Given the description of an element on the screen output the (x, y) to click on. 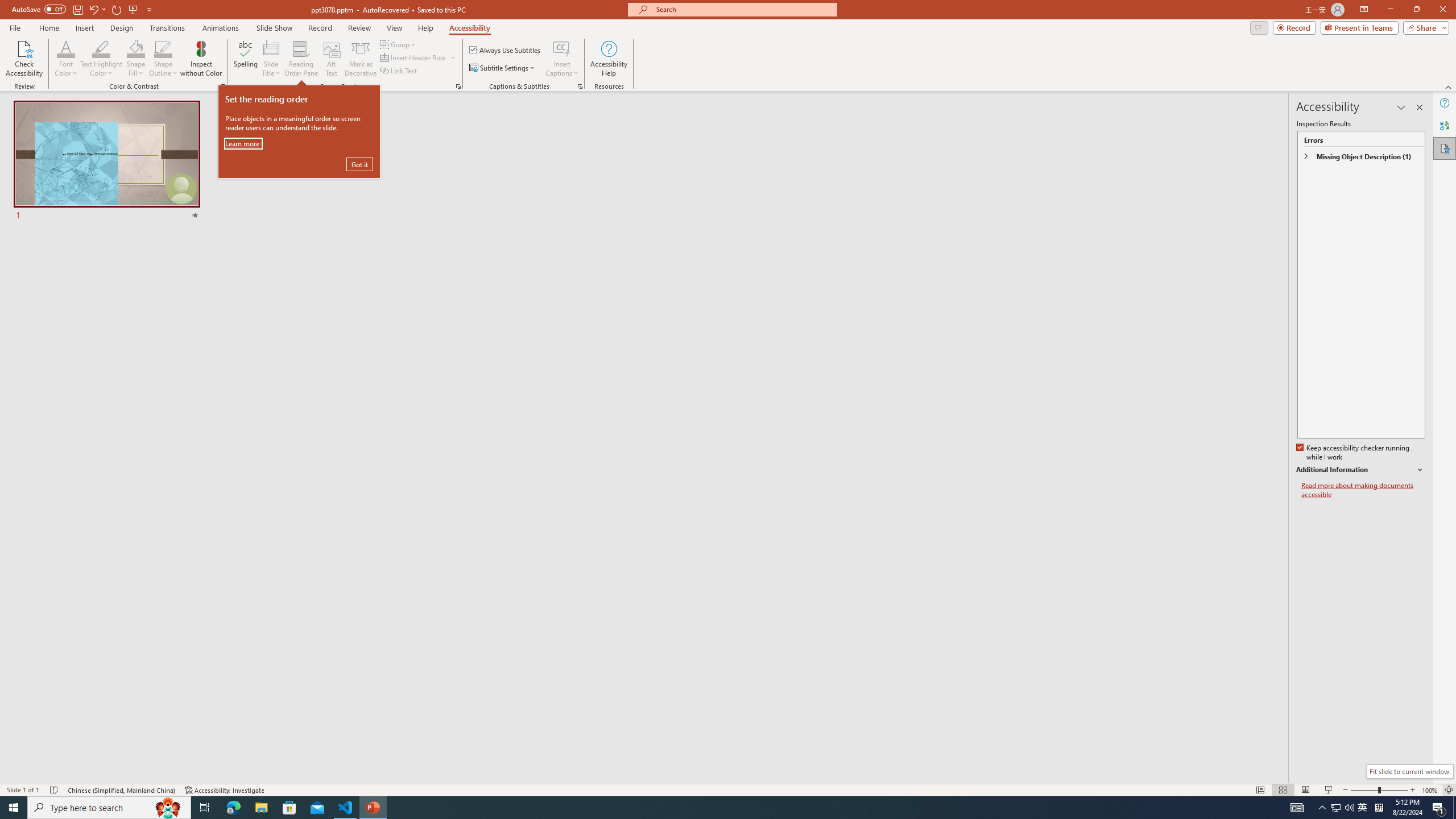
Link Text (399, 69)
Additional Information (1360, 469)
Slide Title (271, 58)
